Given the description of an element on the screen output the (x, y) to click on. 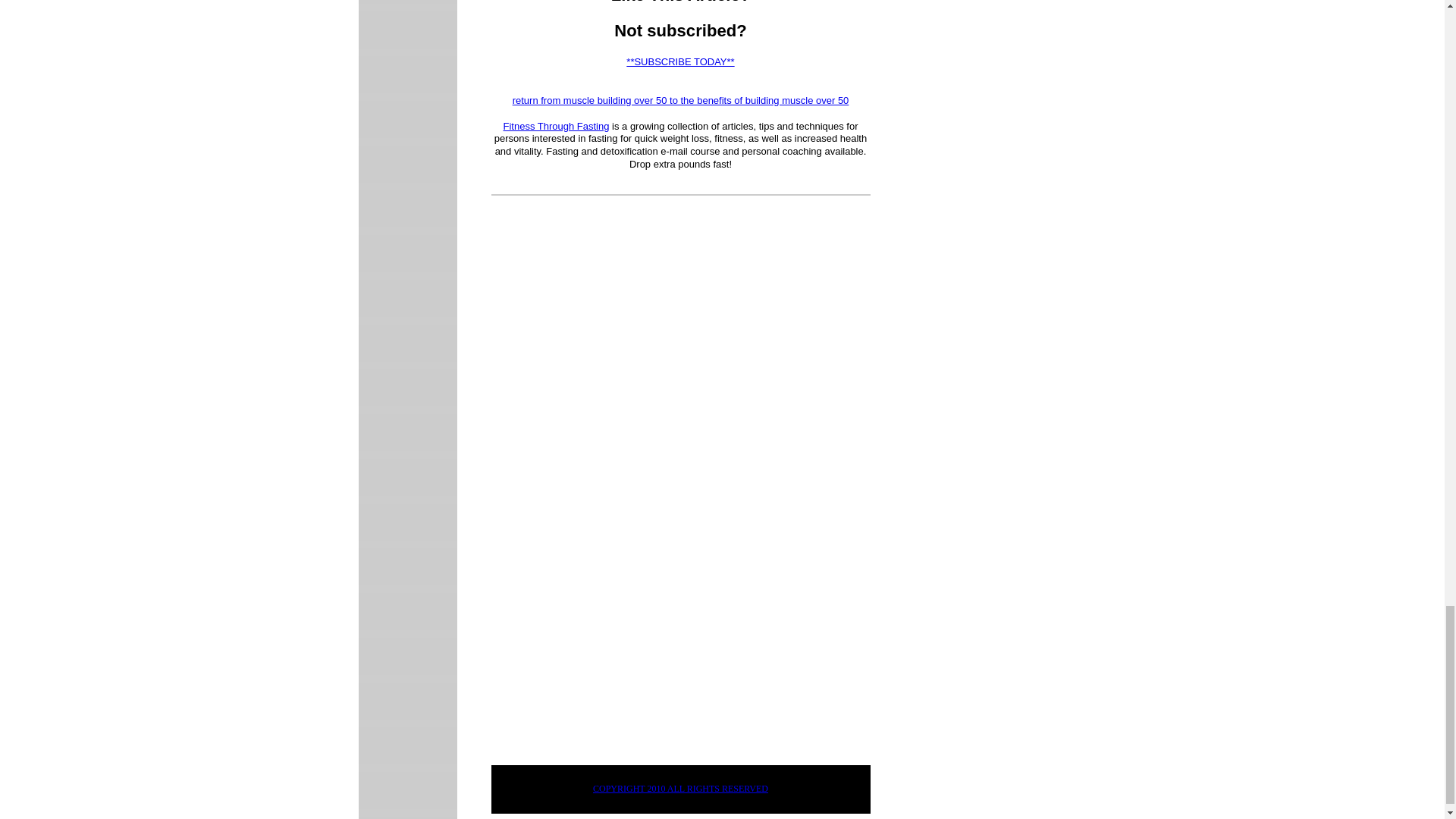
Fasting for Quick Weight Loss (555, 125)
Fitness Through Fasting (555, 125)
Advertisement (618, 635)
COPYRIGHT 2010 ALL RIGHTS RESERVED (680, 788)
